Given the description of an element on the screen output the (x, y) to click on. 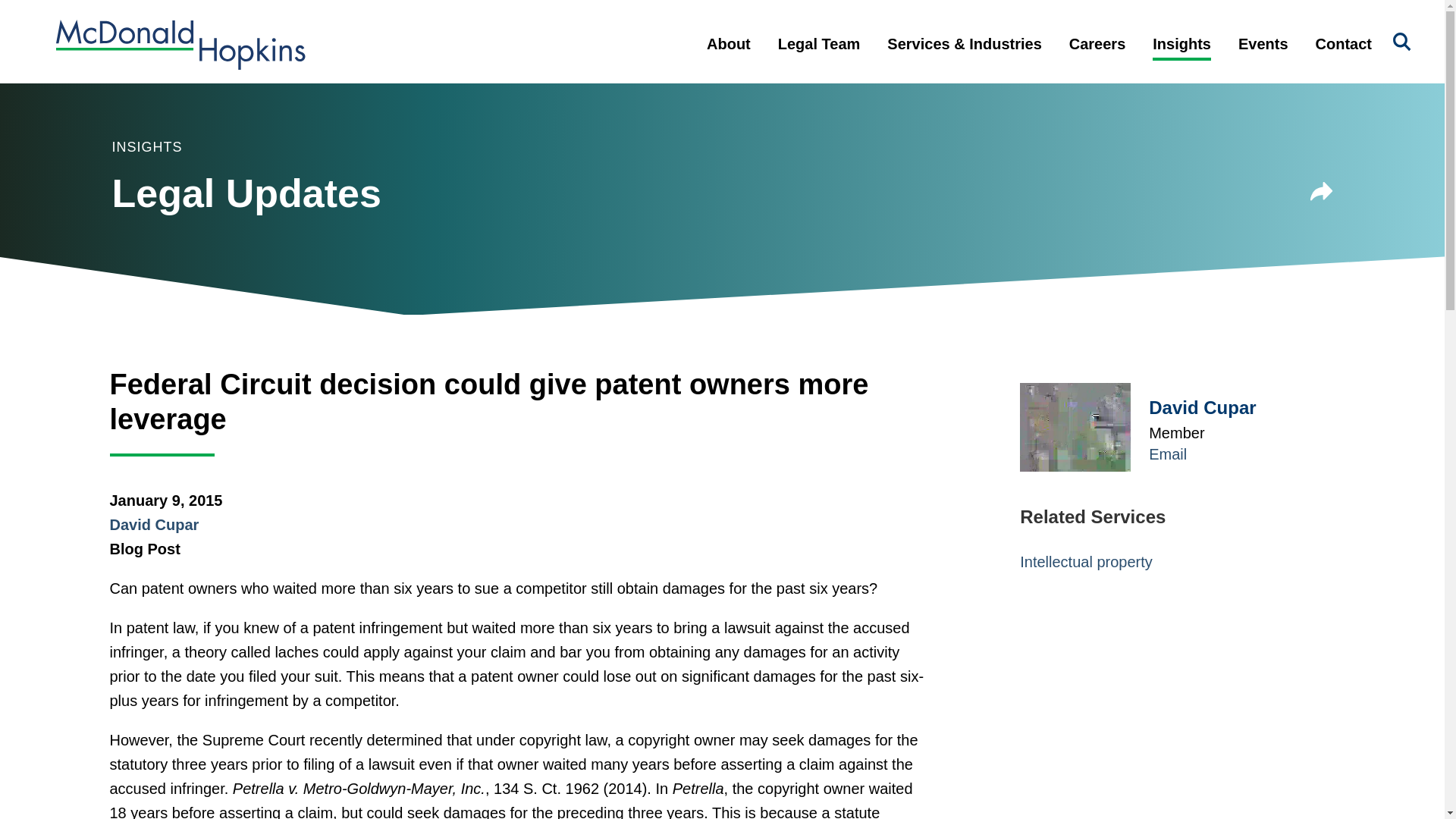
About (728, 55)
Menu (673, 20)
Legal Team (819, 55)
Share (1321, 190)
Share (1321, 194)
Careers (1097, 55)
Contact (1343, 55)
Main Content (666, 20)
Search (1401, 41)
Main Menu (673, 20)
